Given the description of an element on the screen output the (x, y) to click on. 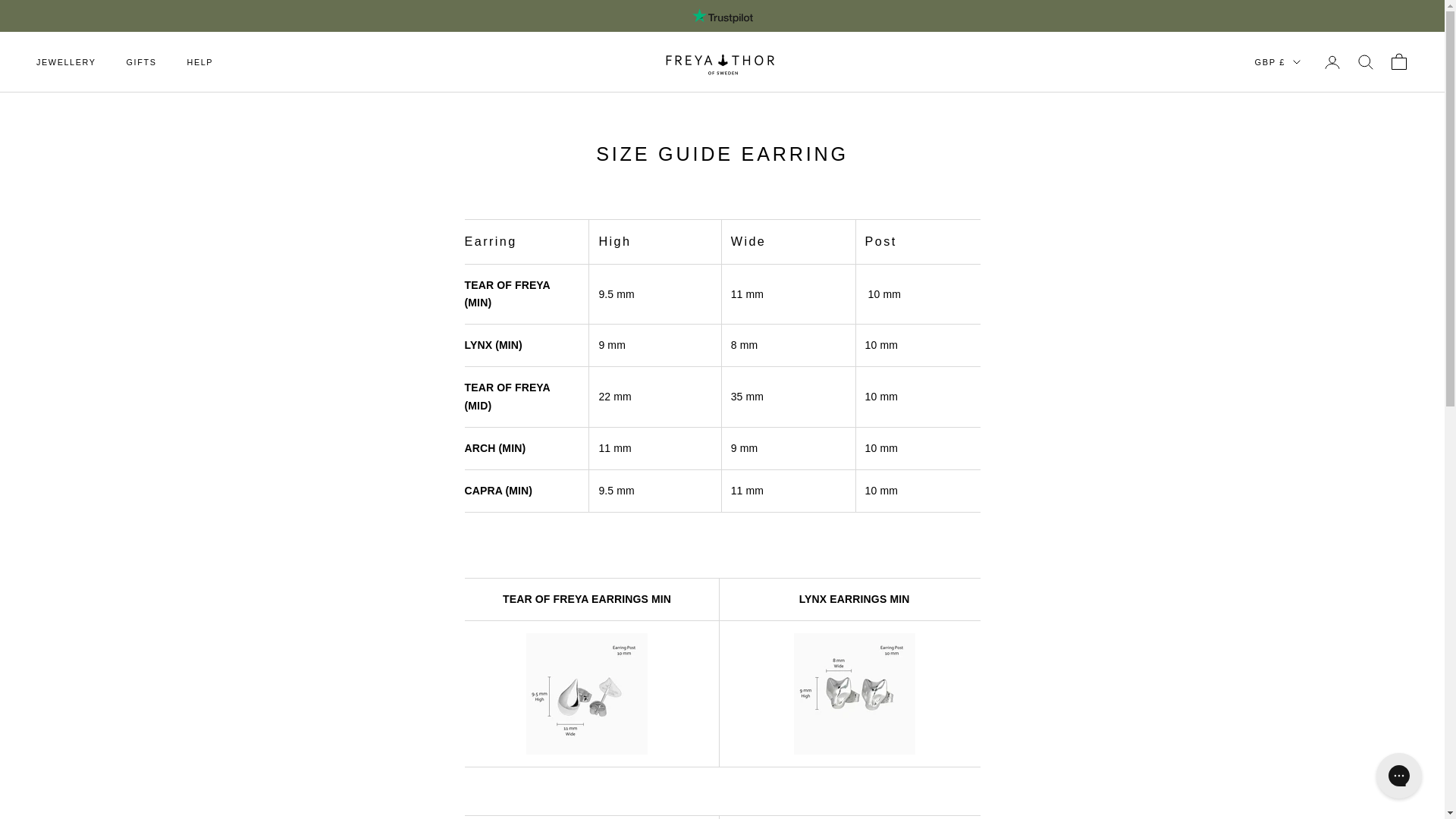
Gorgias live chat messenger (1398, 775)
GIFTS (141, 61)
Customer reviews powered by Trustpilot (721, 15)
TEAR OF FREYA EARRINGS MIN LYNX EARRINGS MIN (721, 672)
